Given the description of an element on the screen output the (x, y) to click on. 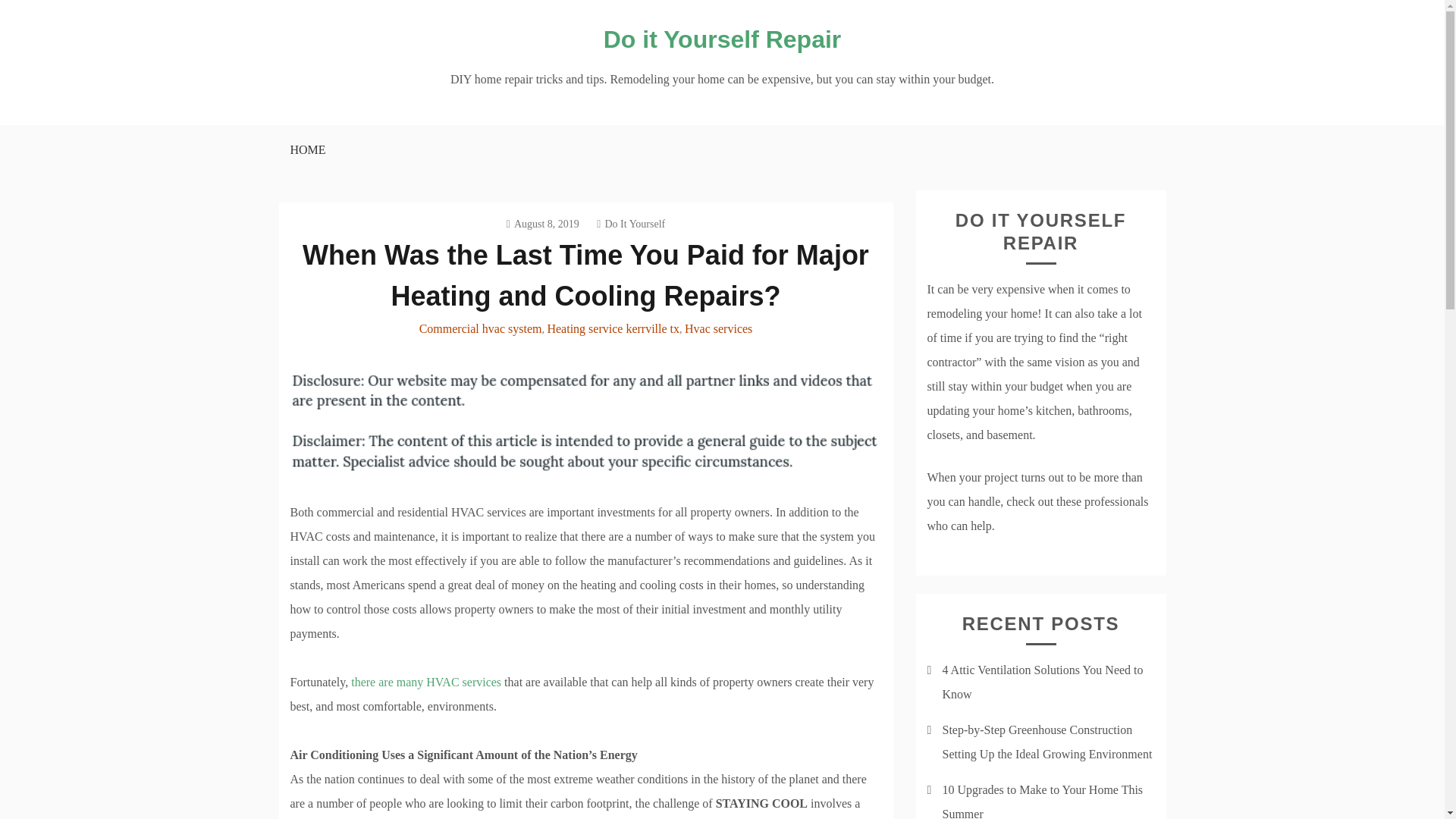
10 Upgrades to Make to Your Home This Summer (1042, 800)
Do it Yourself Repair (722, 39)
Do It Yourself (630, 224)
Heating service kerrville tx (613, 328)
Commercial hvac system (480, 328)
Hvac services (718, 328)
August 8, 2019 (542, 224)
HOME (306, 150)
4 Attic Ventilation Solutions You Need to Know (1042, 682)
there are many HVAC services (425, 681)
more (425, 681)
